Given the description of an element on the screen output the (x, y) to click on. 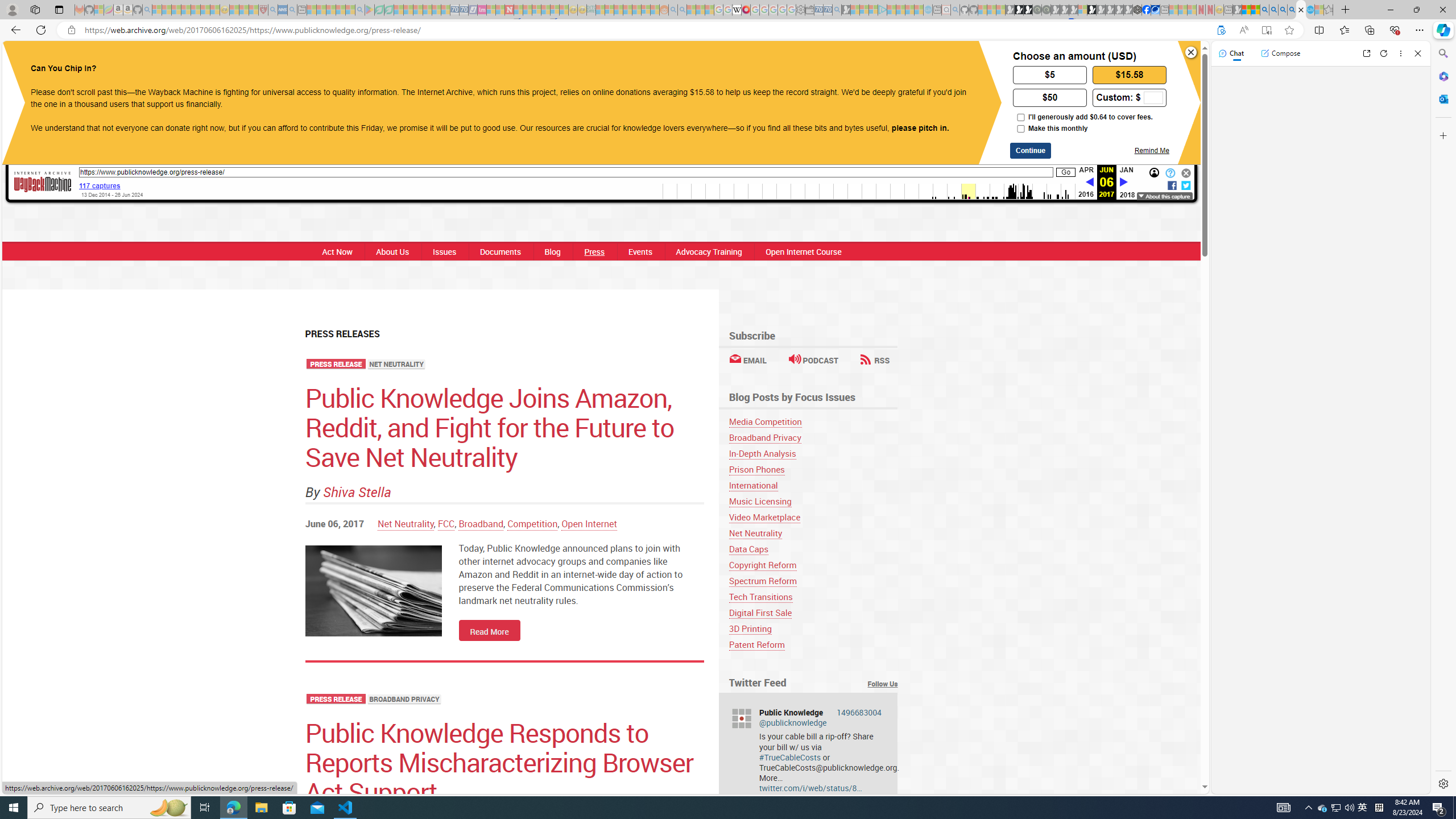
Net Neutrality (813, 532)
Spectrum Reform (762, 580)
